Given the description of an element on the screen output the (x, y) to click on. 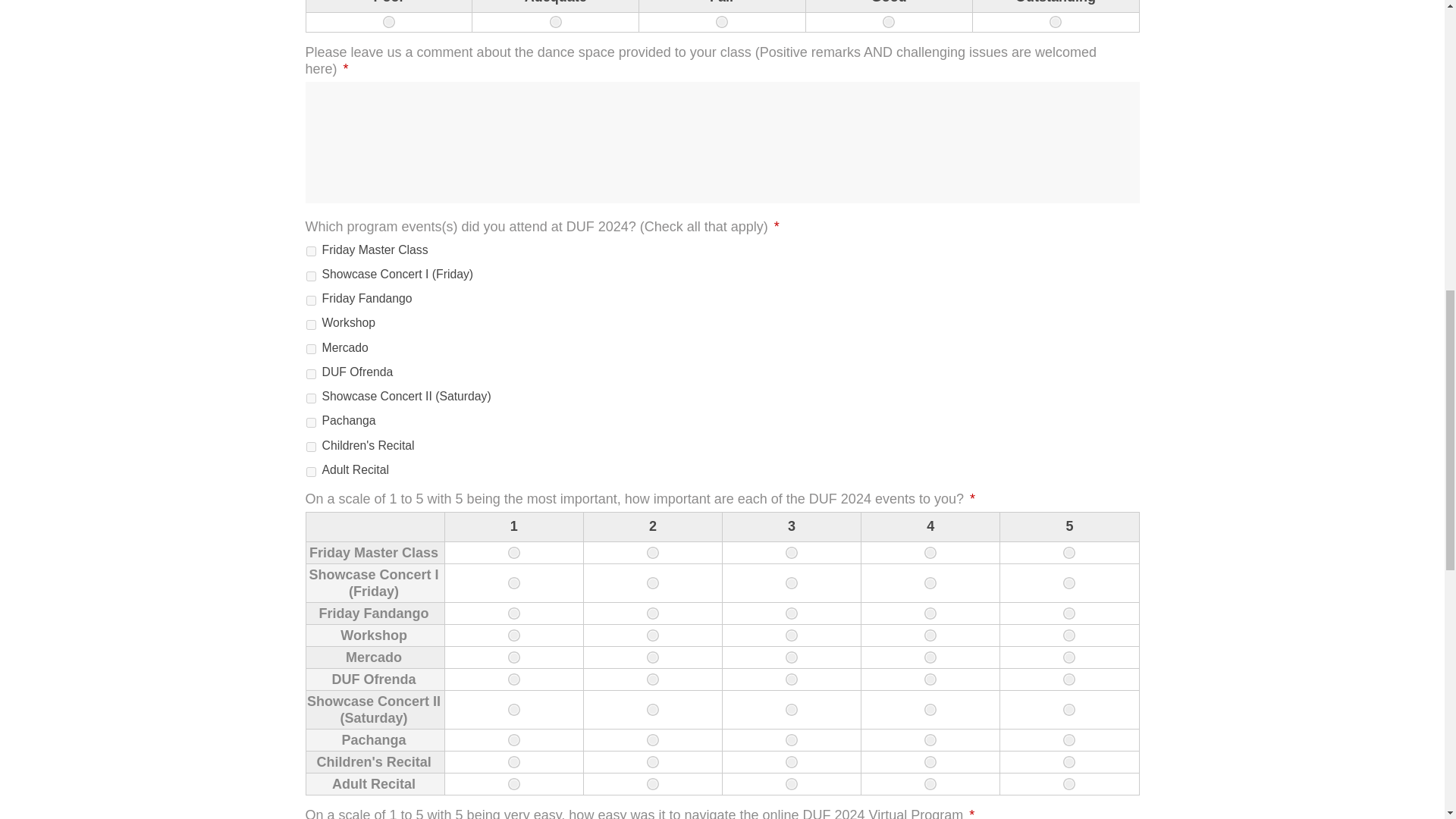
Pachanga (310, 422)
Adult Recital (310, 471)
Friday Master Class (310, 251)
Mercado (310, 348)
Children's Recital (310, 447)
Workshop (310, 325)
Friday Fandango (310, 300)
DUF Ofrenda (310, 374)
